Given the description of an element on the screen output the (x, y) to click on. 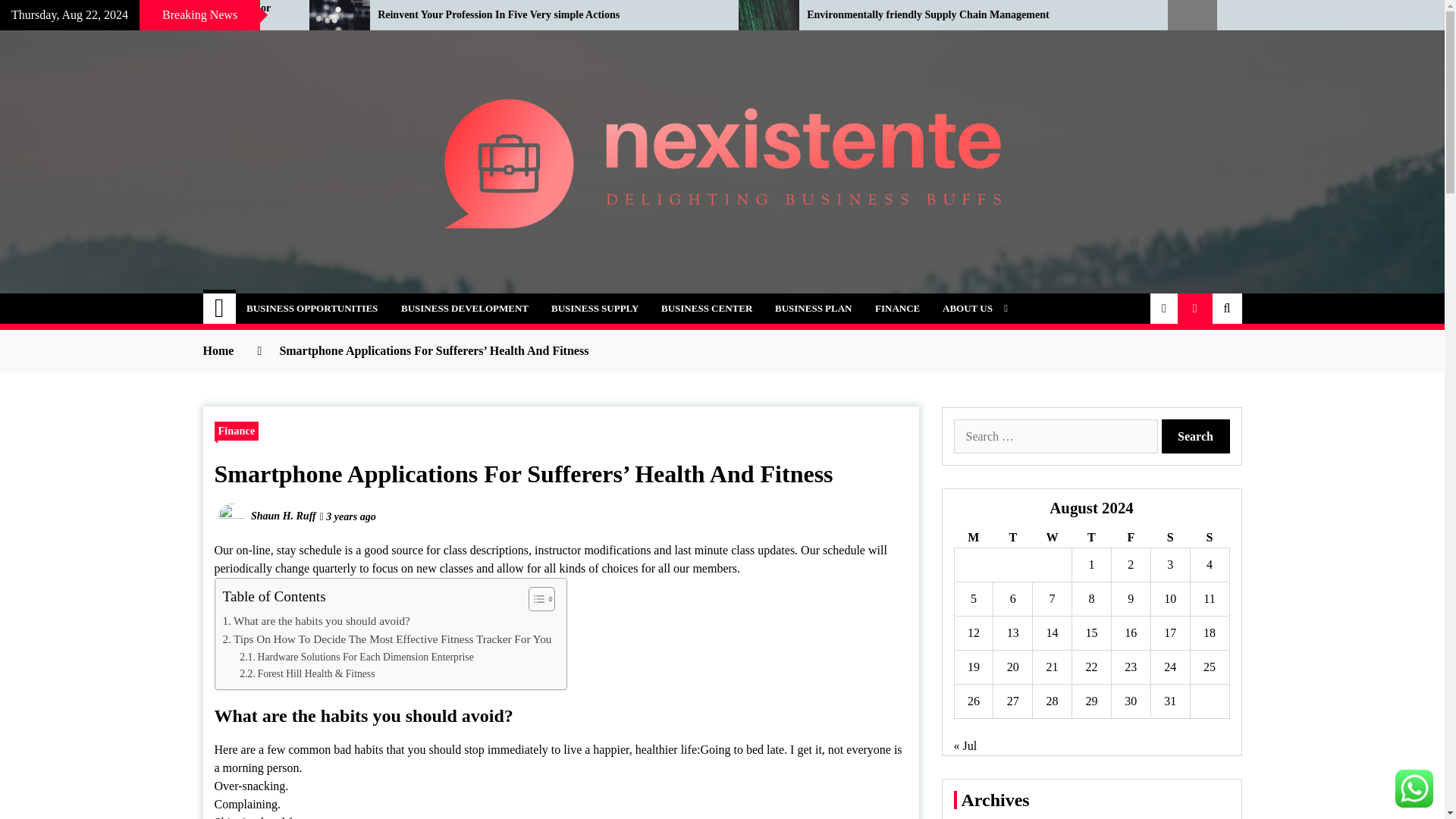
Reinvent Your Profession In Five Very simple Actions (546, 15)
Sunday (1208, 537)
Monday (972, 537)
What are the habits you should avoid? (316, 620)
Wednesday (1051, 537)
Environmentally friendly Supply Chain Management (975, 15)
Hardware Solutions For Each Dimension Enterprise (356, 657)
Friday (1130, 537)
Search (1195, 436)
Home (219, 308)
